Given the description of an element on the screen output the (x, y) to click on. 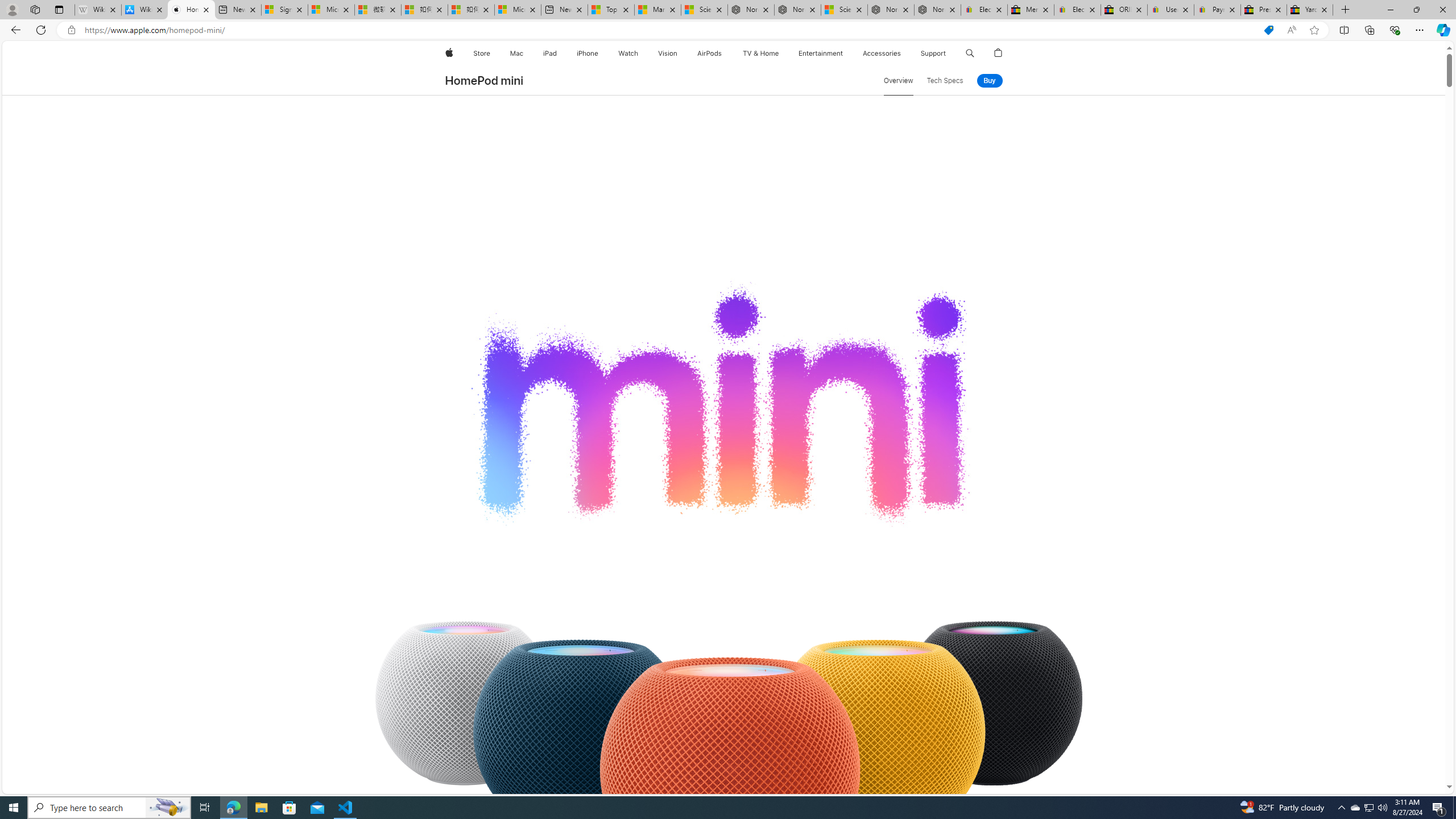
AutomationID: globalnav-bag (998, 53)
Entertainment (820, 53)
iPad (550, 53)
Payments Terms of Use | eBay.com (1216, 9)
Mac (516, 53)
Top Stories - MSN (610, 9)
iPhone menu (600, 53)
Support (932, 53)
